Given the description of an element on the screen output the (x, y) to click on. 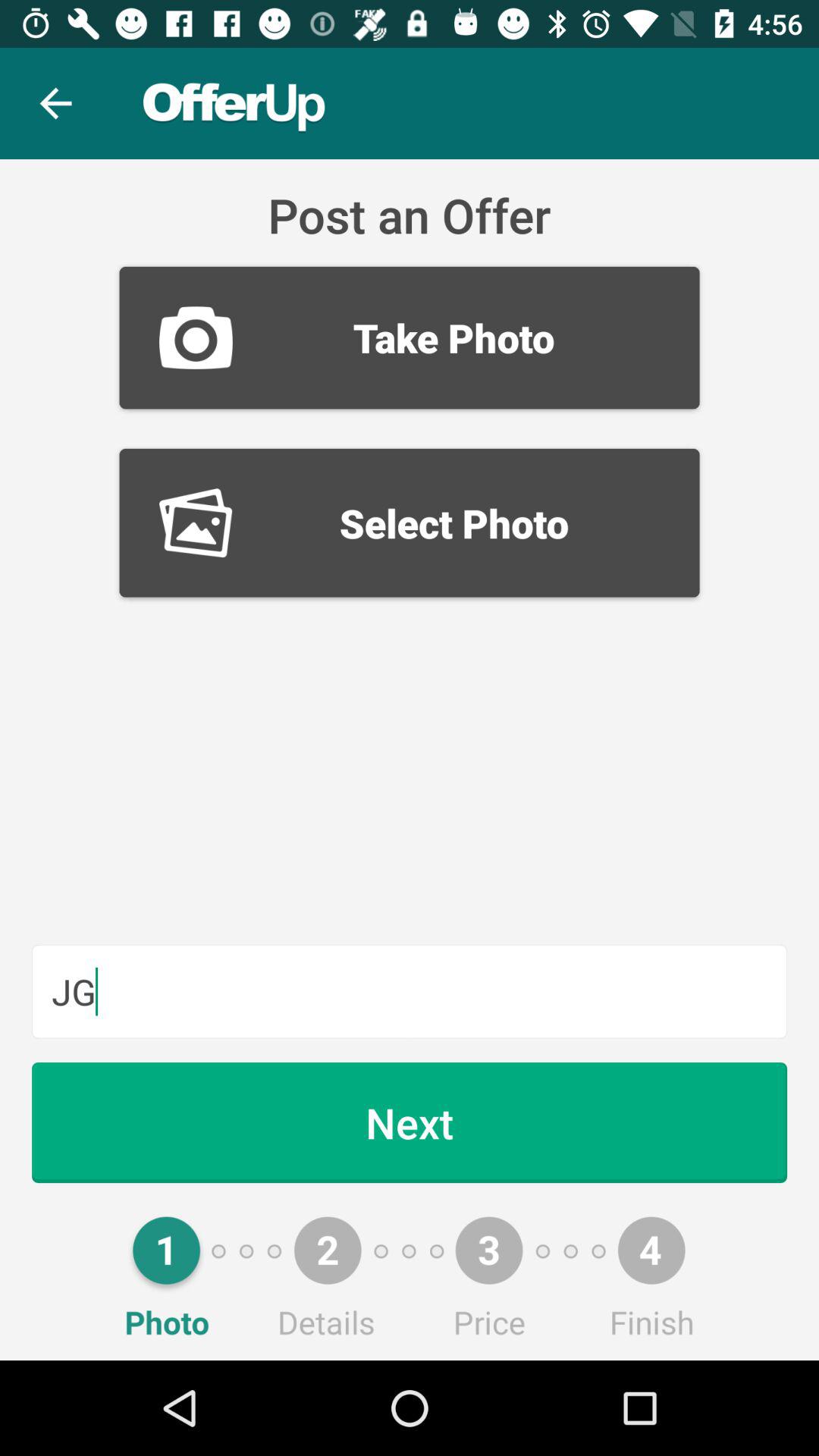
turn on the item below jg (409, 1122)
